Given the description of an element on the screen output the (x, y) to click on. 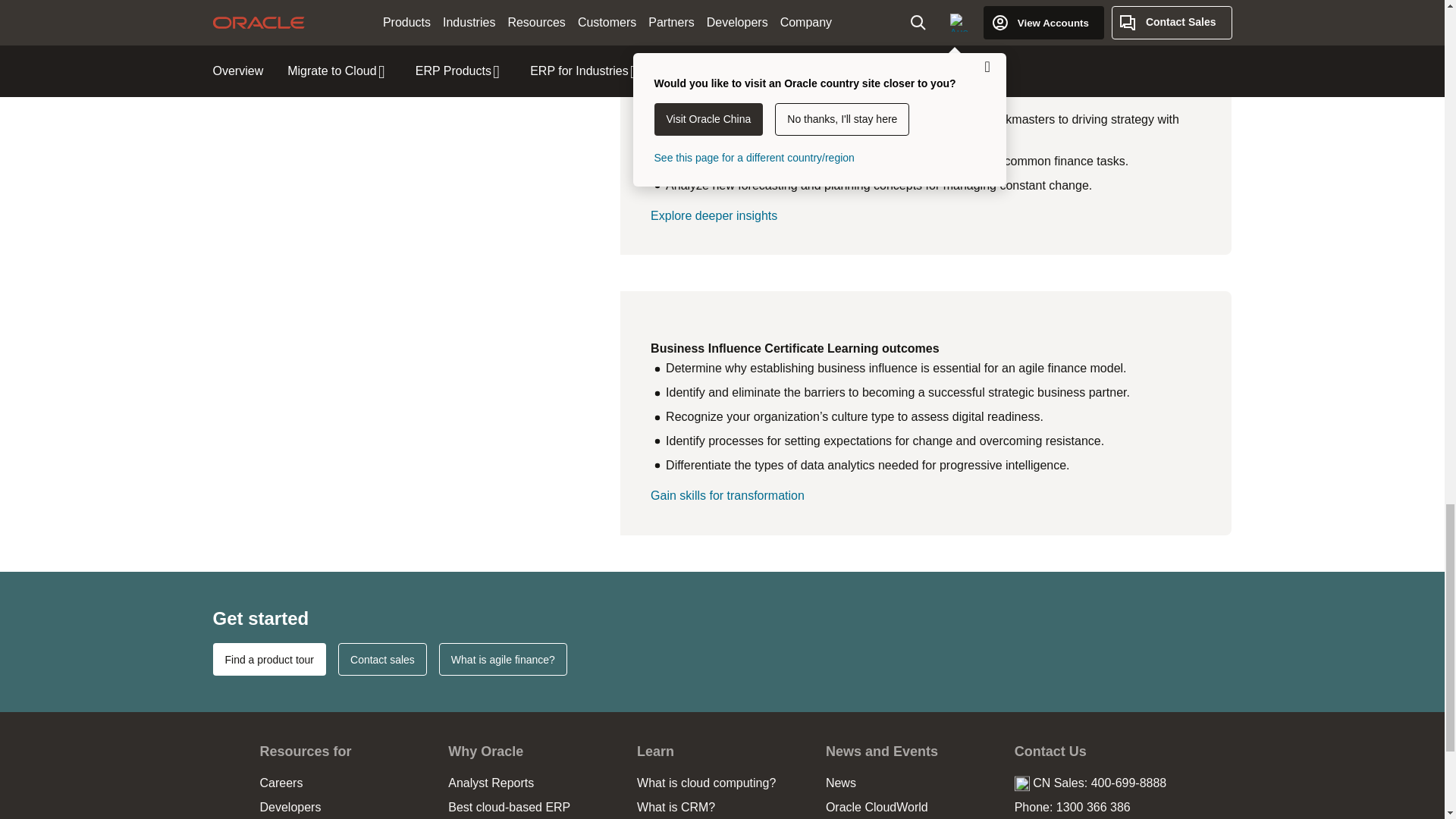
Contact Oracle ERP (381, 658)
